Given the description of an element on the screen output the (x, y) to click on. 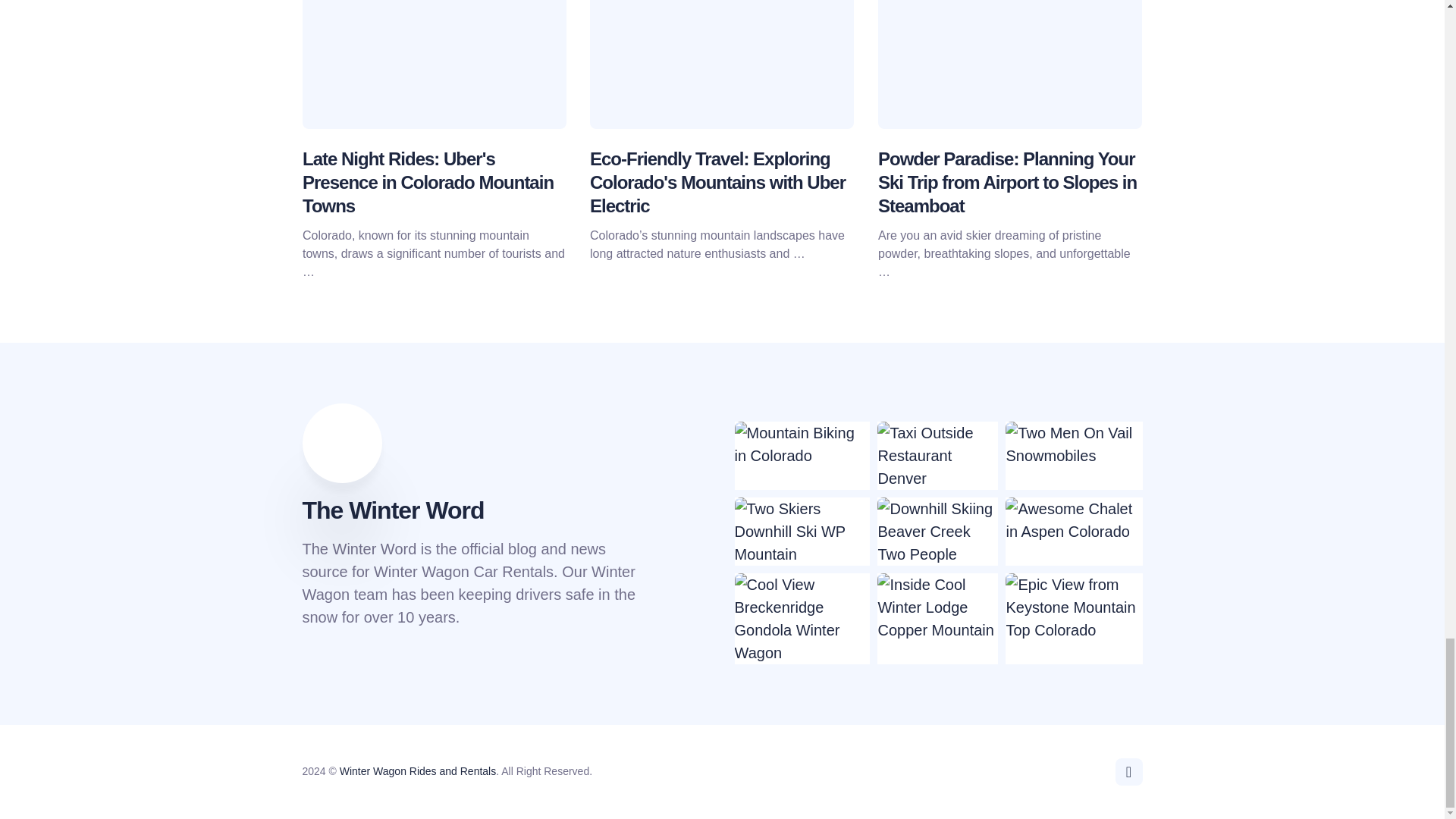
Late Night Rides: Uber's Presence in Colorado Mountain Towns (427, 182)
Winter Wagon Rides and Rentals (417, 770)
Top (1128, 771)
